Given the description of an element on the screen output the (x, y) to click on. 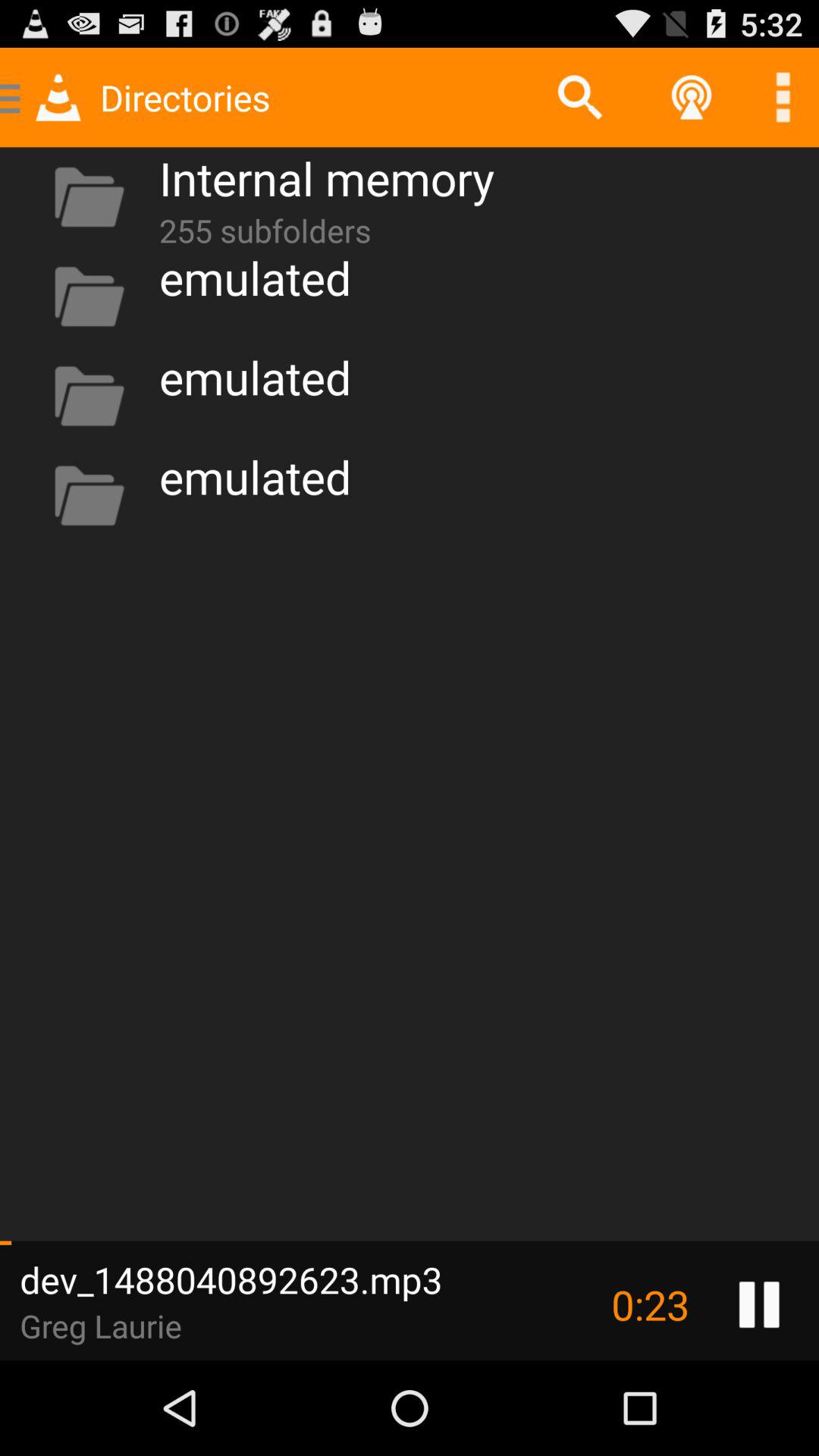
scroll to internal memory (326, 177)
